Given the description of an element on the screen output the (x, y) to click on. 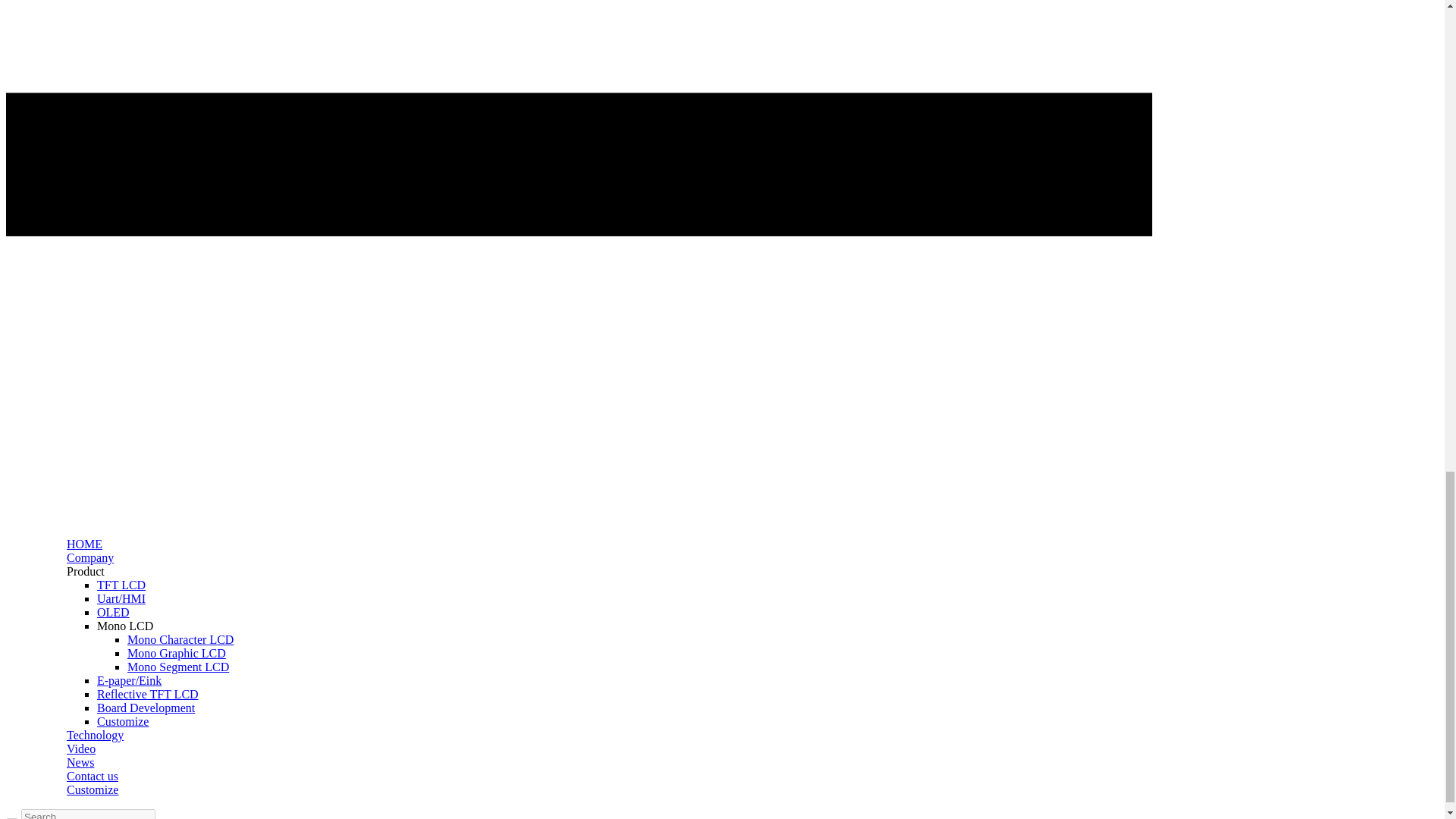
Mono LCD (124, 625)
Mono Character LCD (180, 639)
Company (89, 557)
Mono Graphic LCD (176, 653)
TFT LCD (121, 584)
OLED (113, 612)
HOME (83, 543)
Product (85, 571)
